Given the description of an element on the screen output the (x, y) to click on. 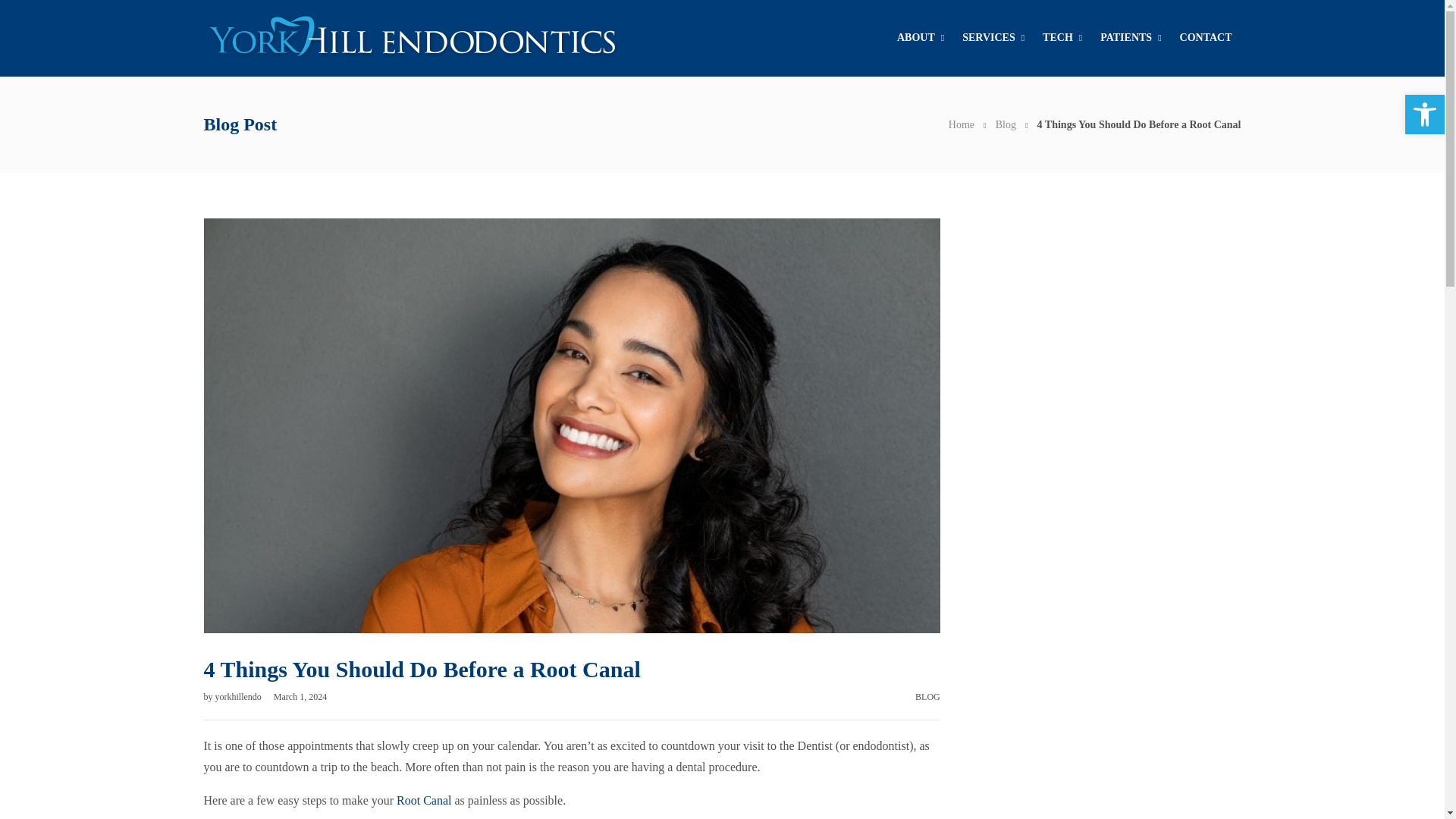
Accessibility Tools (1424, 114)
Home (961, 123)
4 Things You Should Do Before a Root Canal (1138, 123)
